Given the description of an element on the screen output the (x, y) to click on. 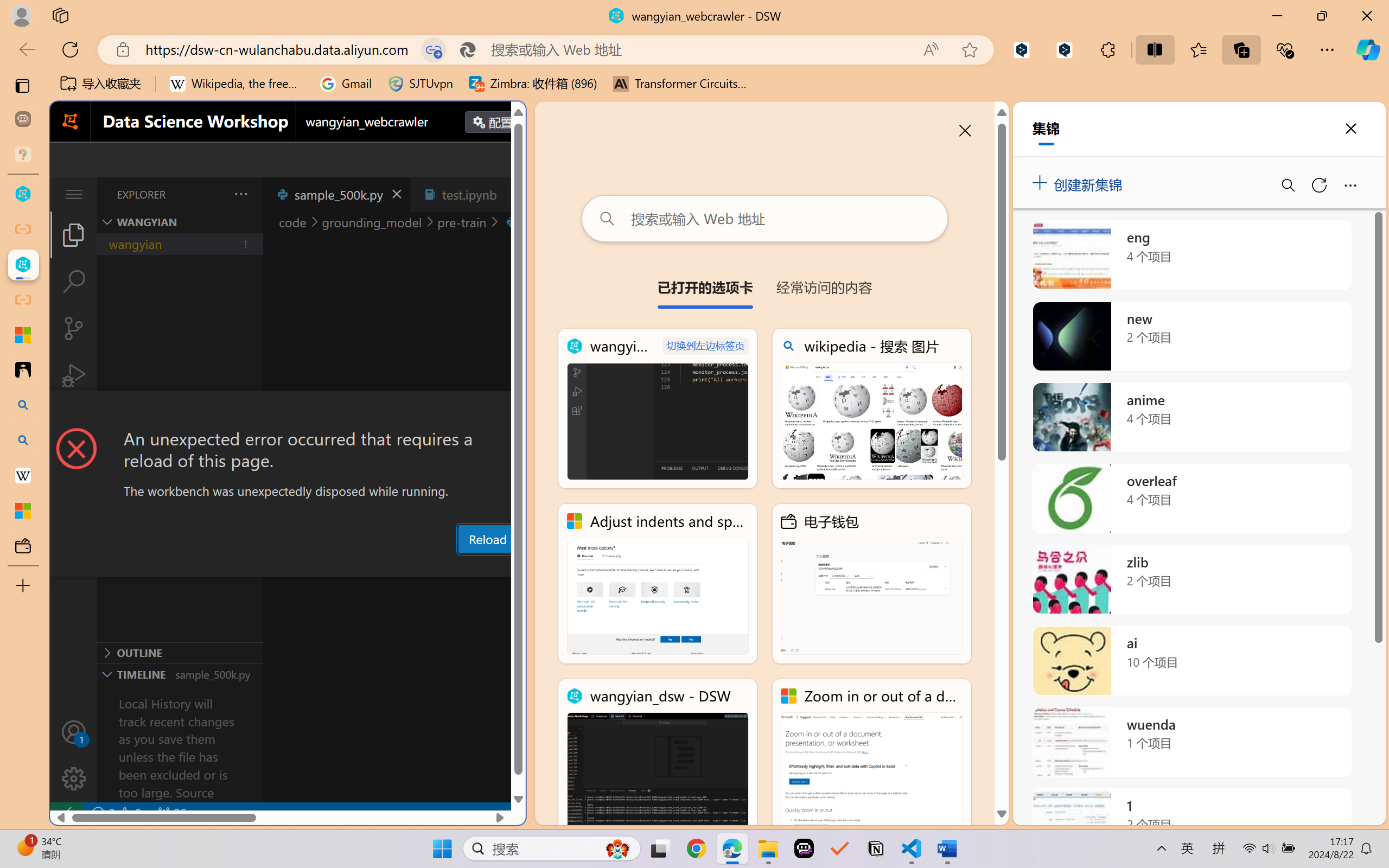
Run and Debug (Ctrl+Shift+D) (73, 375)
Class: actions-container (287, 410)
Search (Ctrl+Shift+F) (73, 281)
SJTUvpn (419, 83)
